Given the description of an element on the screen output the (x, y) to click on. 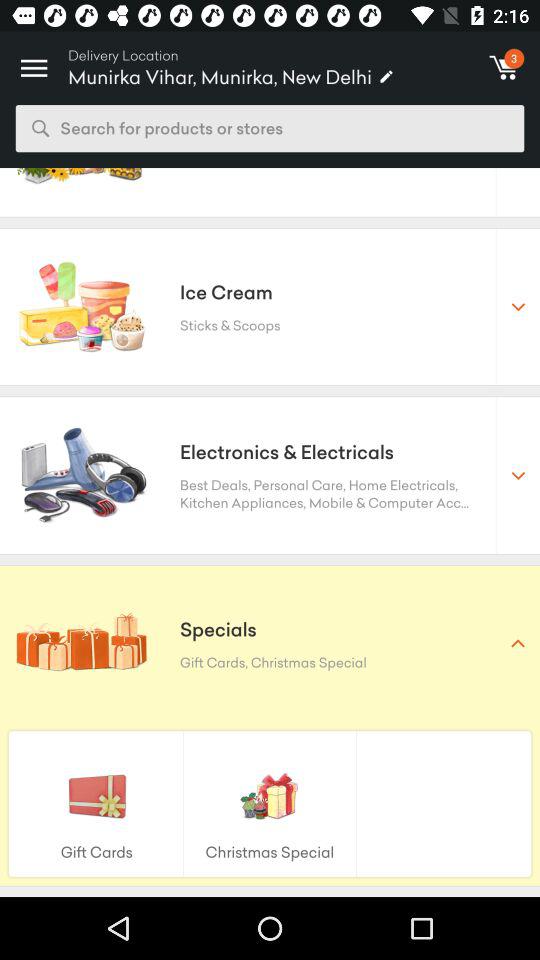
select icon next to the delivery location icon (33, 62)
